Given the description of an element on the screen output the (x, y) to click on. 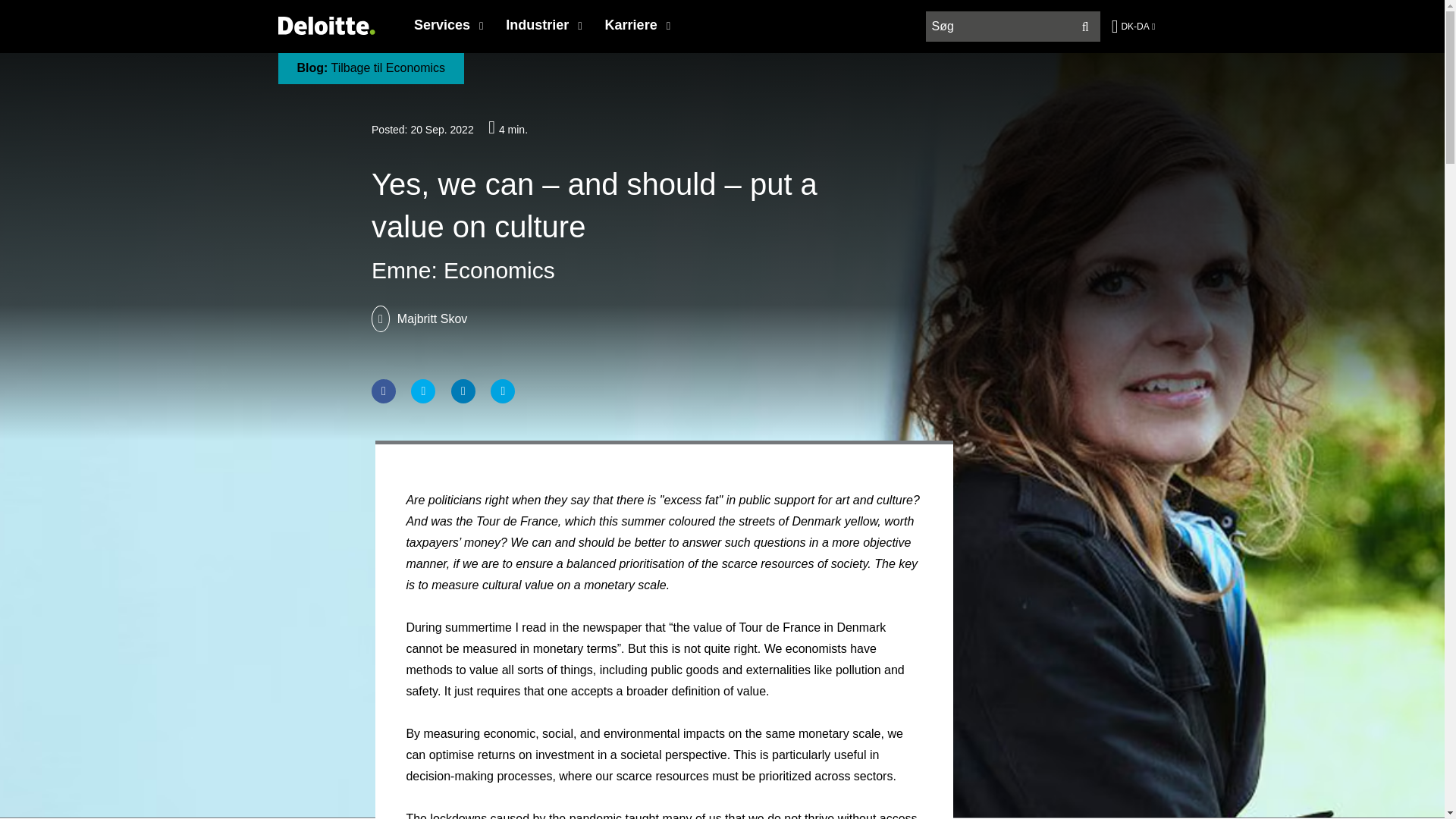
Share via LinkedIn (463, 391)
Industrier (543, 24)
search (1013, 26)
Share via Facebook (383, 391)
Deloitte Danmark (326, 31)
Share via Twitter (422, 391)
Services (449, 24)
Share via Email (502, 391)
